Given the description of an element on the screen output the (x, y) to click on. 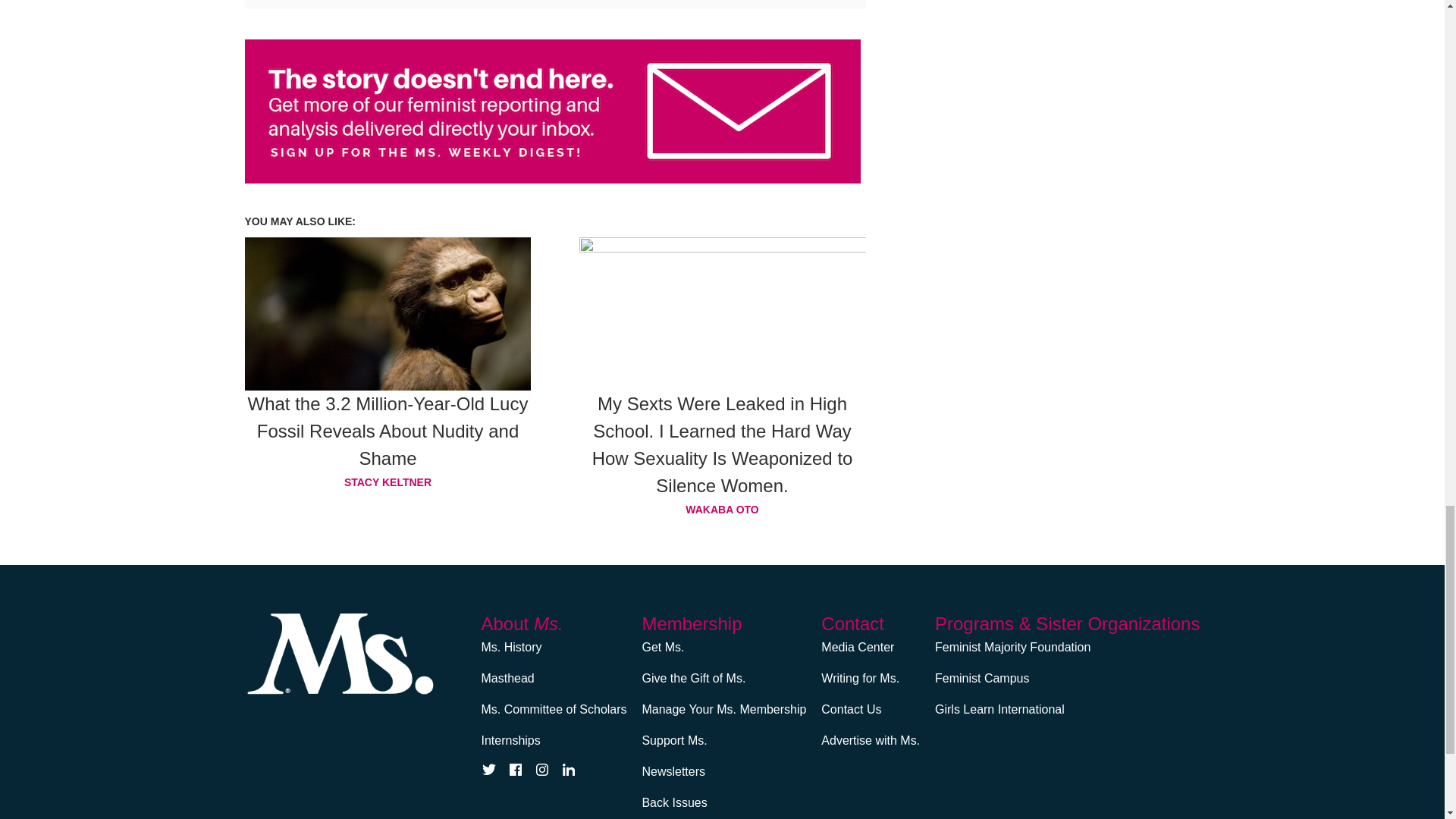
Posts by Stacy Keltner (387, 482)
Posts by Wakaba Oto (722, 509)
